Given the description of an element on the screen output the (x, y) to click on. 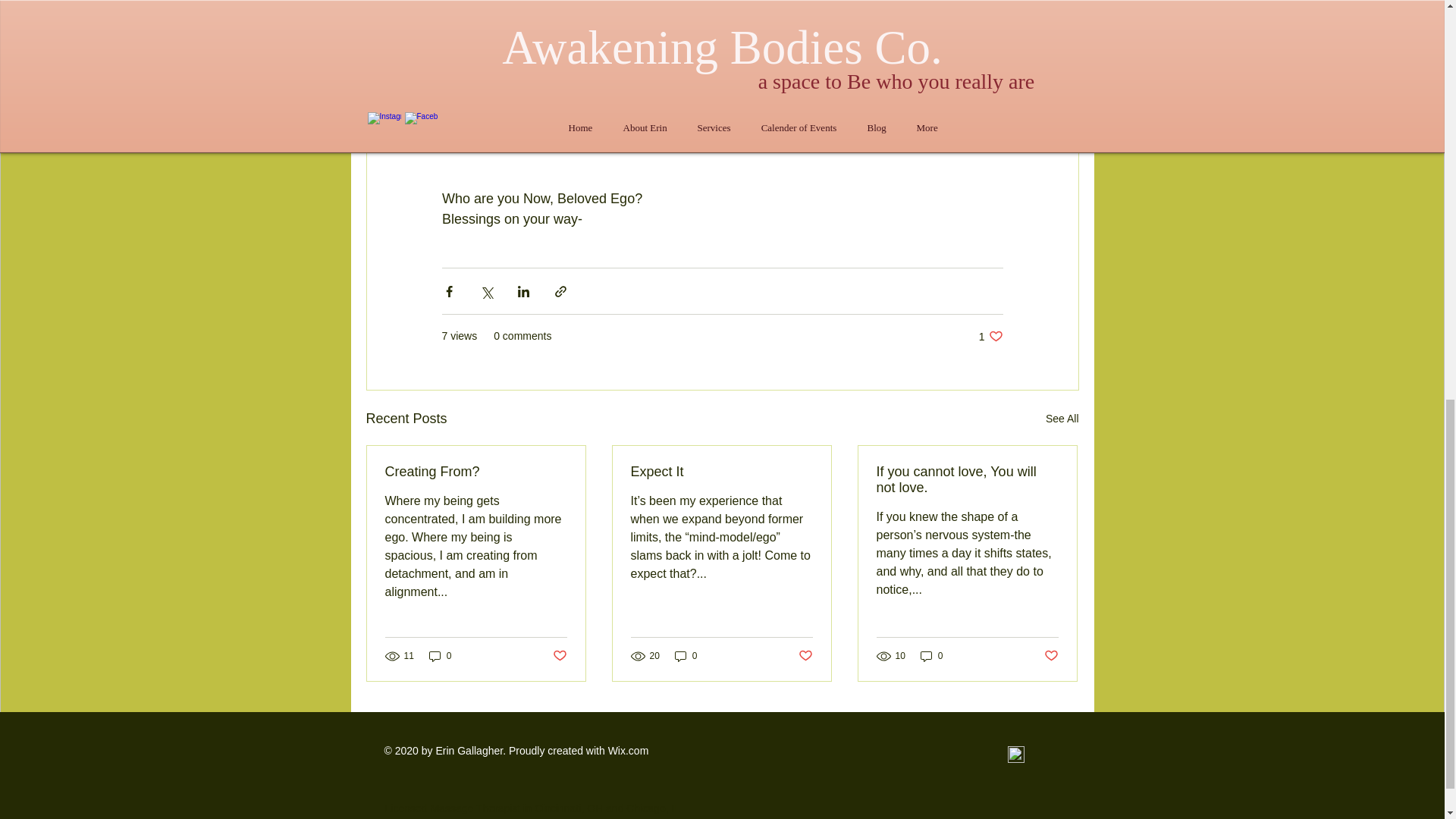
0 (931, 656)
0 (440, 656)
Post not marked as liked (990, 336)
Post not marked as liked (804, 655)
Wix.com (558, 655)
If you cannot love, You will not love. (628, 750)
0 (967, 480)
Creating From? (685, 656)
See All (476, 471)
